Given the description of an element on the screen output the (x, y) to click on. 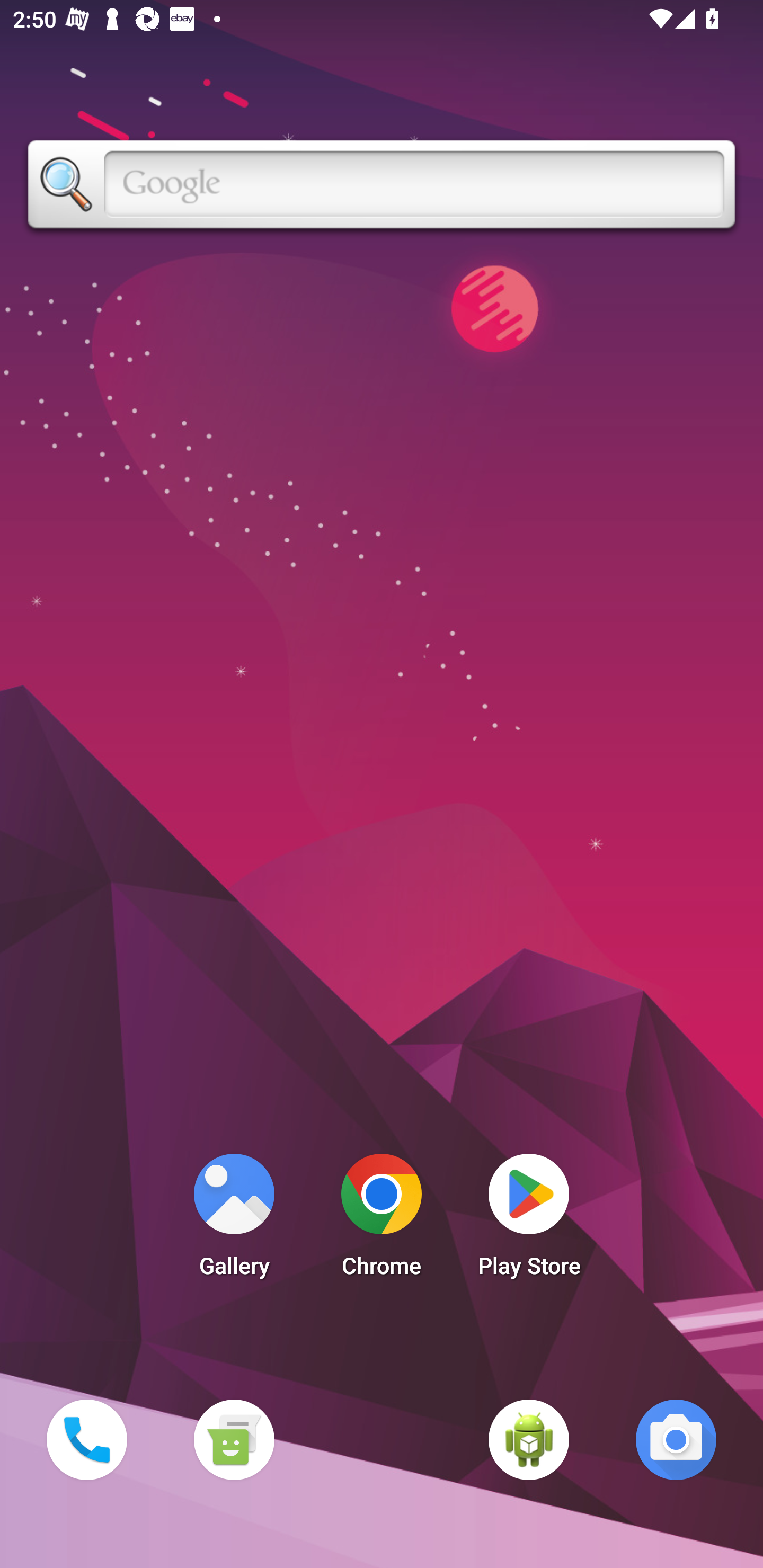
Gallery (233, 1220)
Chrome (381, 1220)
Play Store (528, 1220)
Phone (86, 1439)
Messaging (233, 1439)
WebView Browser Tester (528, 1439)
Camera (676, 1439)
